Given the description of an element on the screen output the (x, y) to click on. 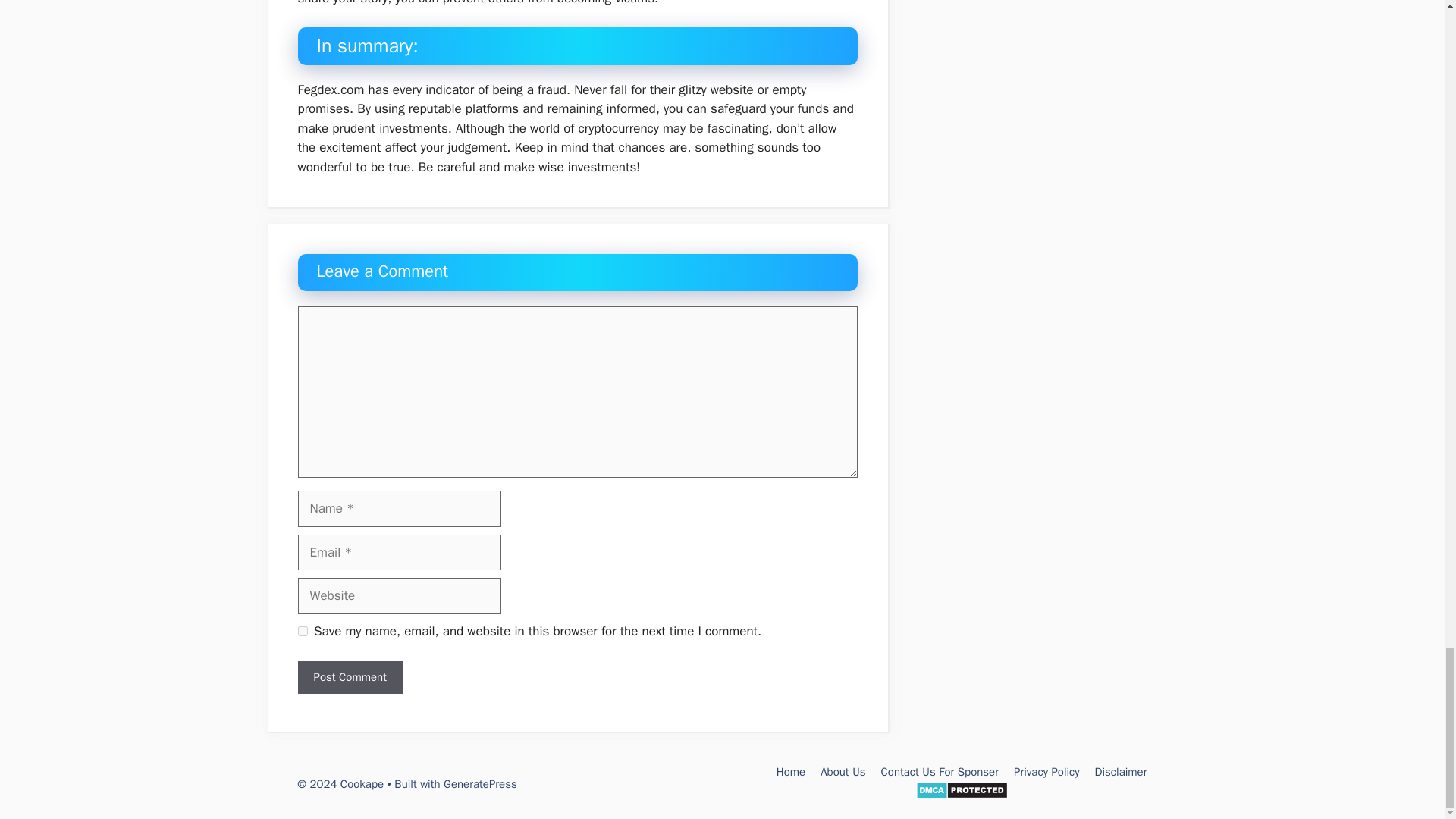
Post Comment (349, 677)
Home (790, 771)
Contact Us For Sponser (939, 771)
GeneratePress (480, 784)
About Us (842, 771)
Privacy Policy (1046, 771)
Post Comment (349, 677)
DMCA.com Protection Status (961, 795)
Disclaimer (1120, 771)
yes (302, 631)
